Given the description of an element on the screen output the (x, y) to click on. 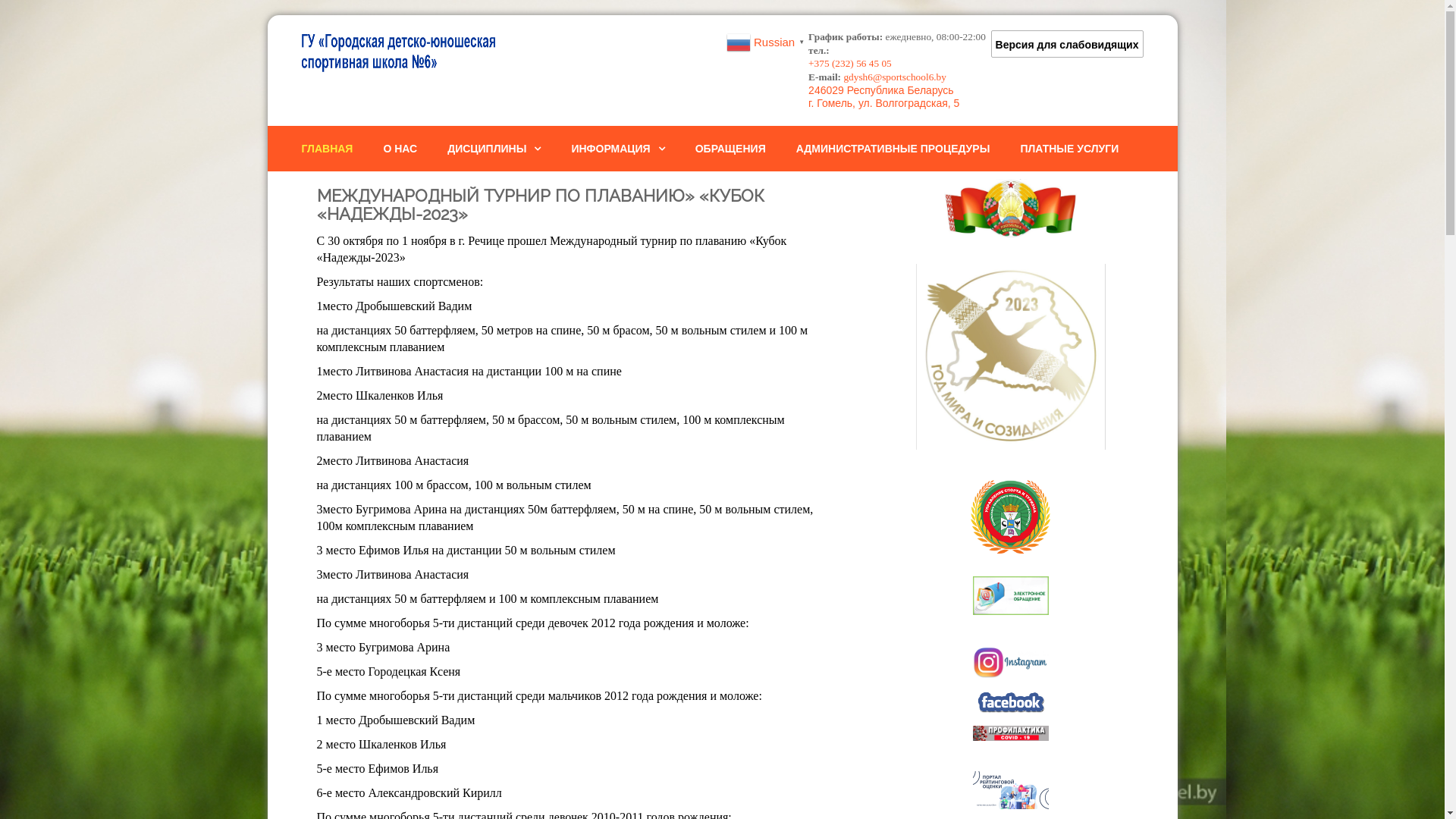
+375 (232) 56 45 05 Element type: text (849, 63)
gdysh6@sportschool6.by Element type: text (894, 76)
